Given the description of an element on the screen output the (x, y) to click on. 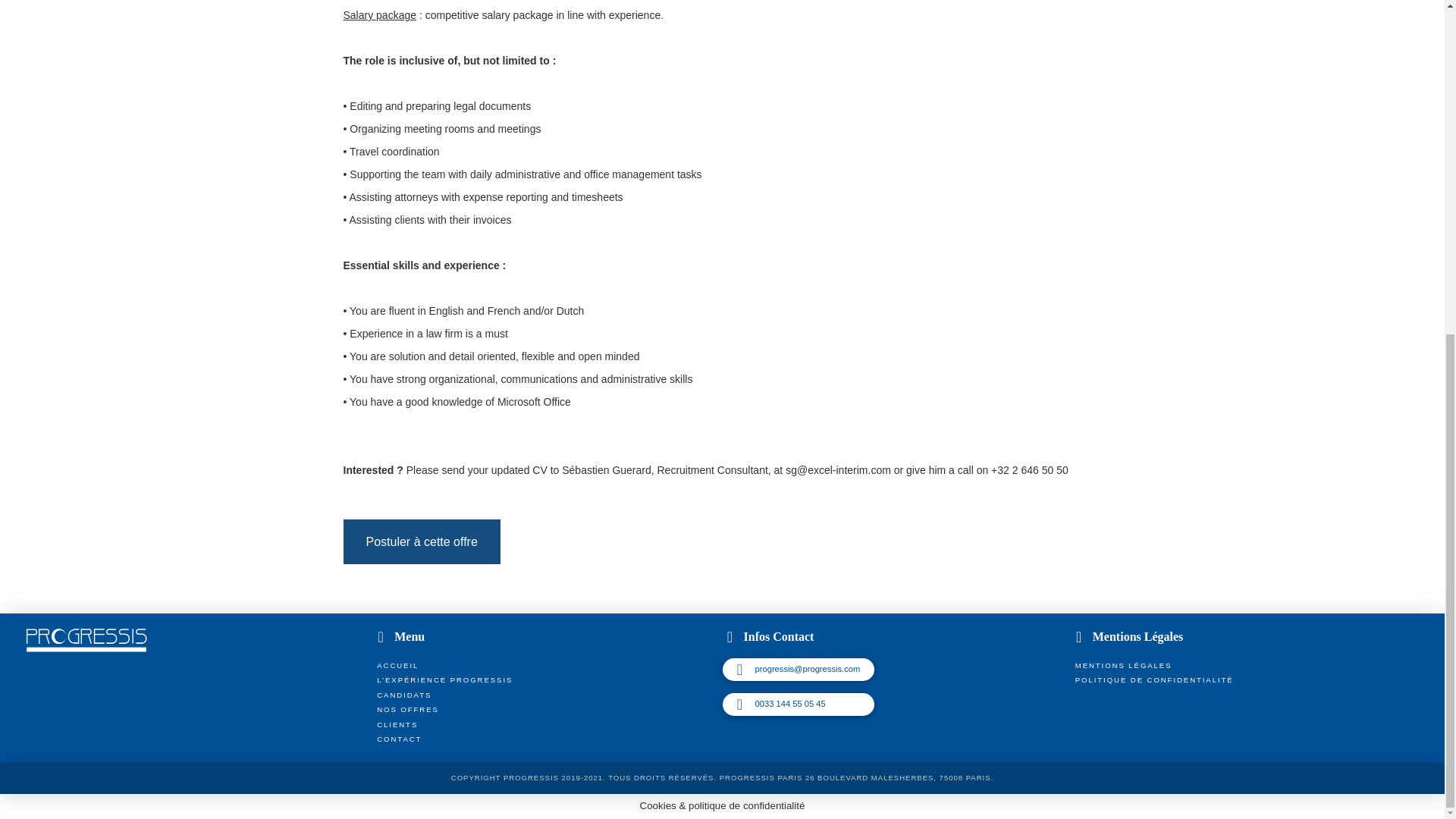
Envoyer (612, 44)
CONTACT (397, 739)
CLIENTS (396, 724)
NOS OFFRES (406, 709)
0033 144 55 05 45 (797, 703)
CANDIDATS (402, 694)
ACCUEIL (396, 664)
